Given the description of an element on the screen output the (x, y) to click on. 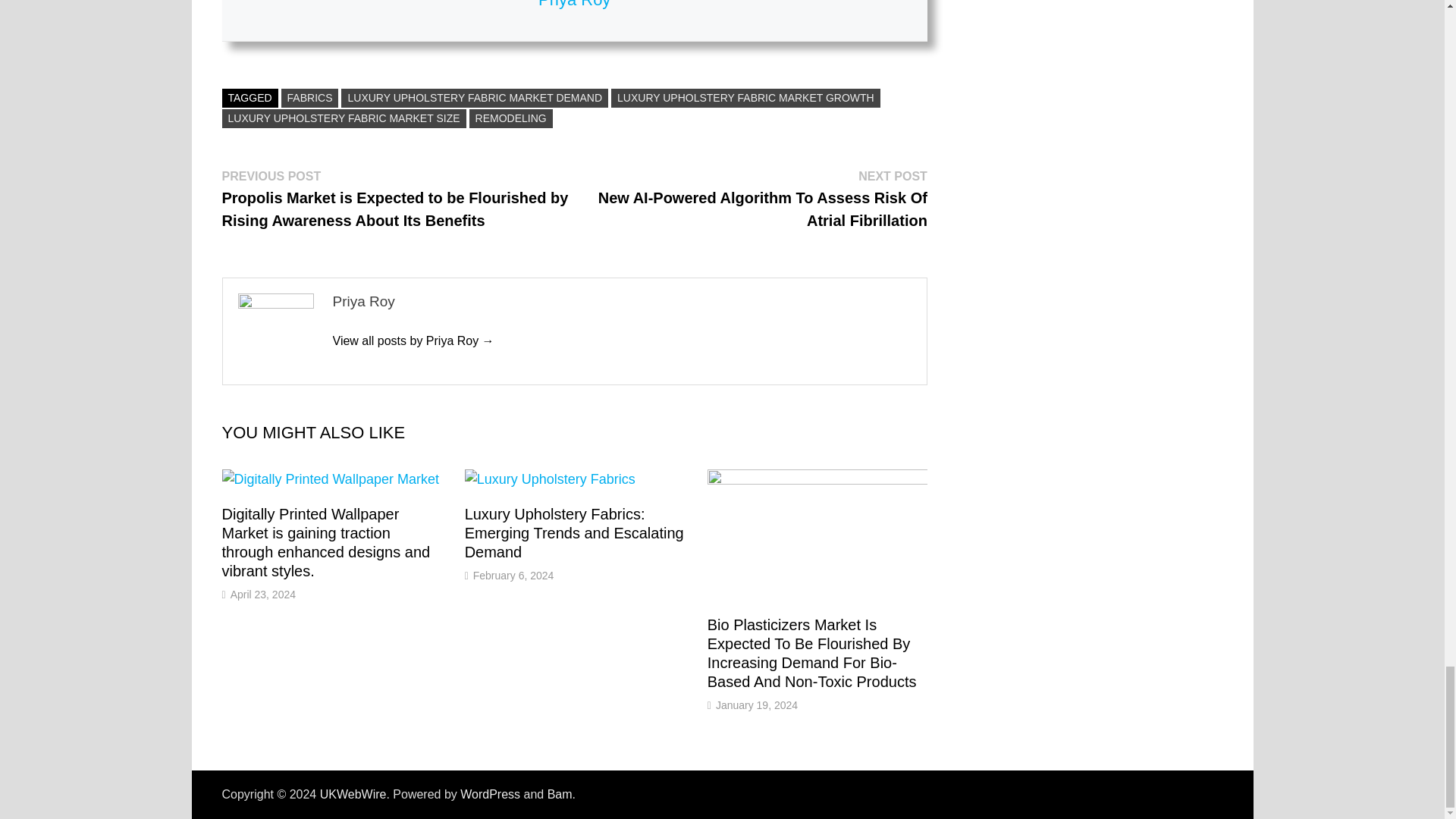
Priya Roy (412, 340)
UKWebWire (353, 793)
